Given the description of an element on the screen output the (x, y) to click on. 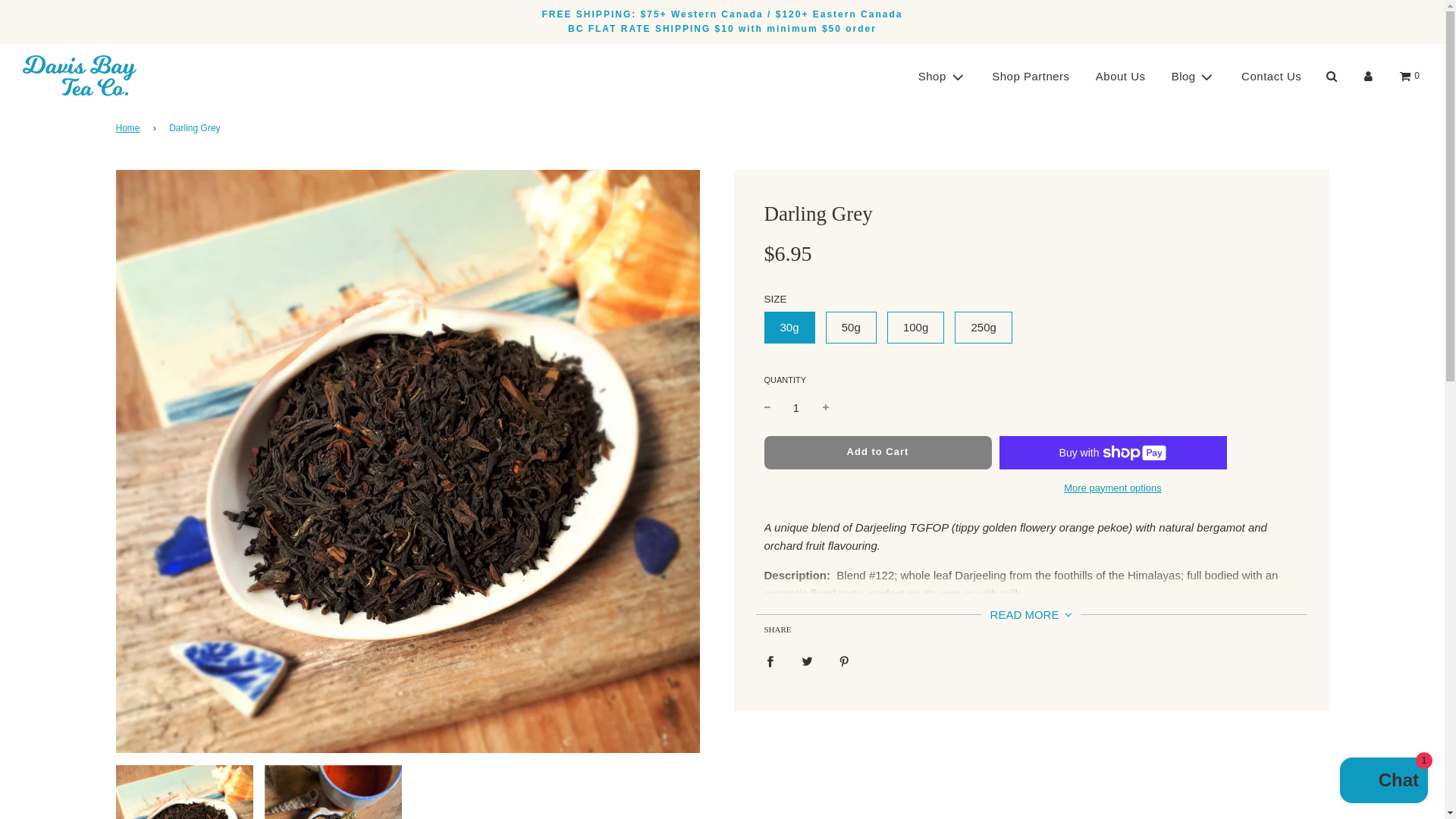
1 (796, 406)
Shopify online store chat (1383, 781)
Log in (1368, 76)
Back to the frontpage (129, 128)
